Given the description of an element on the screen output the (x, y) to click on. 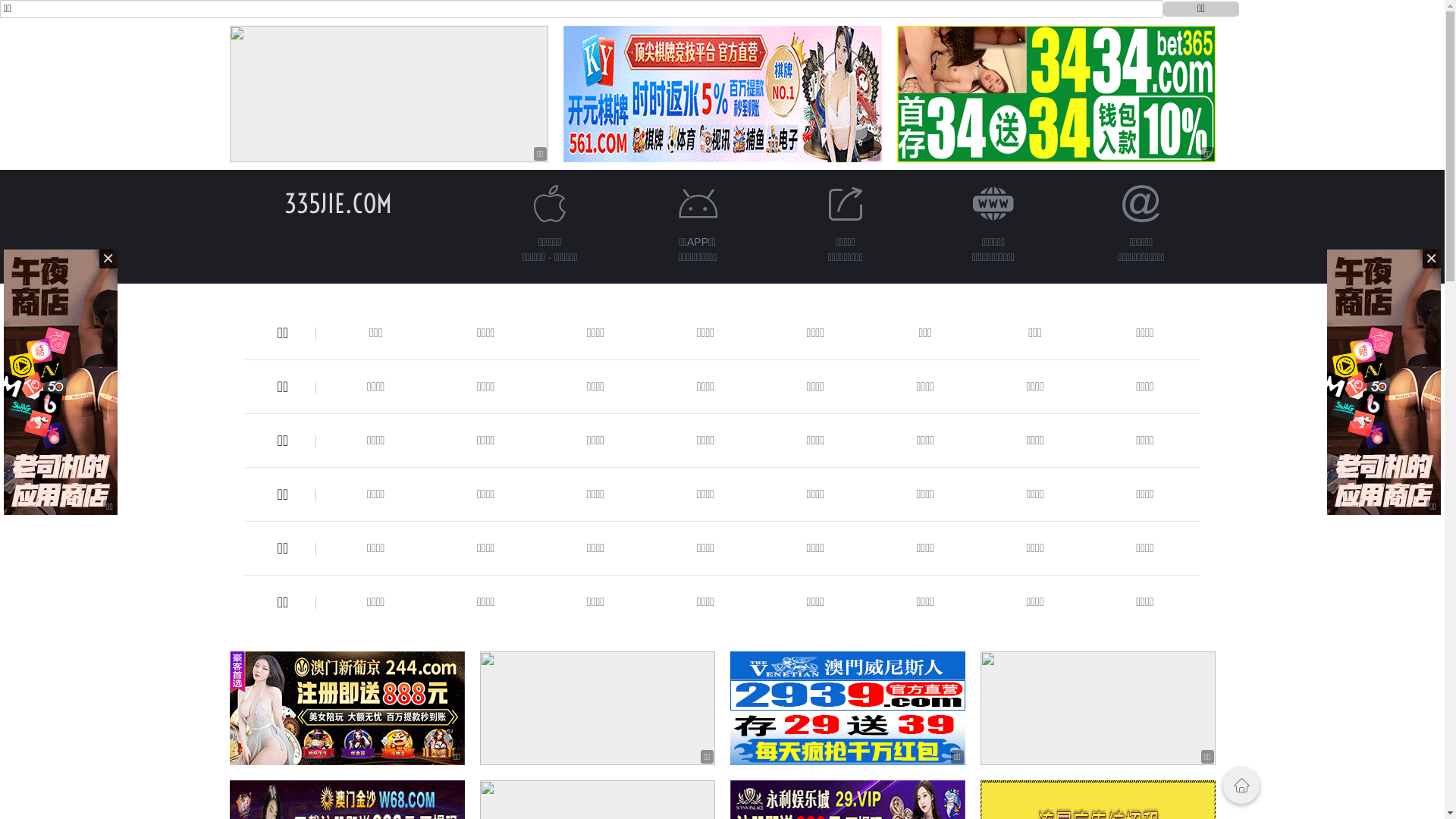
335JIE.COM Element type: text (337, 203)
